Given the description of an element on the screen output the (x, y) to click on. 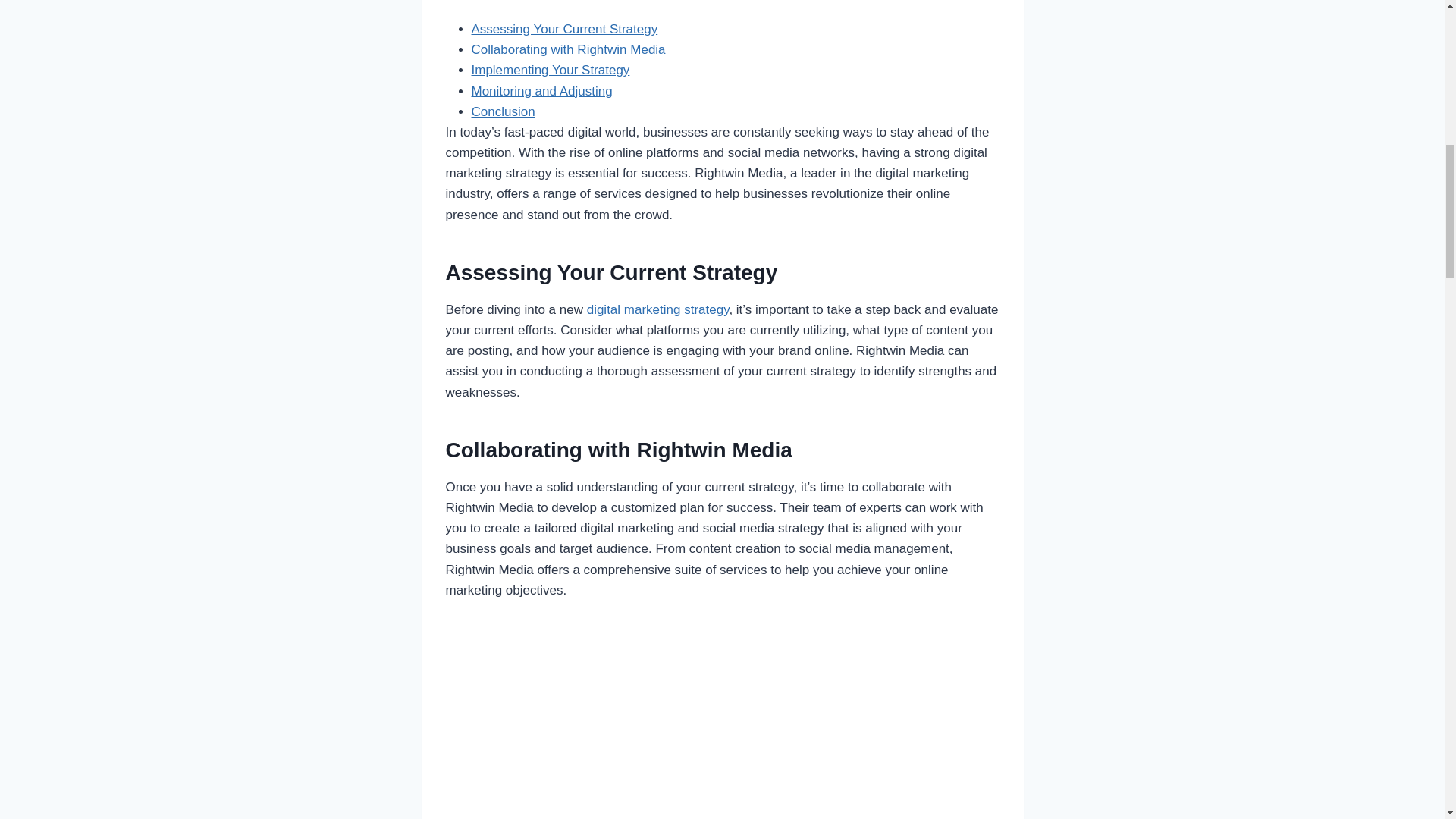
Conclusion (503, 111)
Assessing Your Current Strategy (564, 29)
Monitoring and Adjusting (541, 91)
Implementing Your Strategy (550, 69)
digital marketing strategy (657, 309)
Collaborating with Rightwin Media (568, 49)
